Given the description of an element on the screen output the (x, y) to click on. 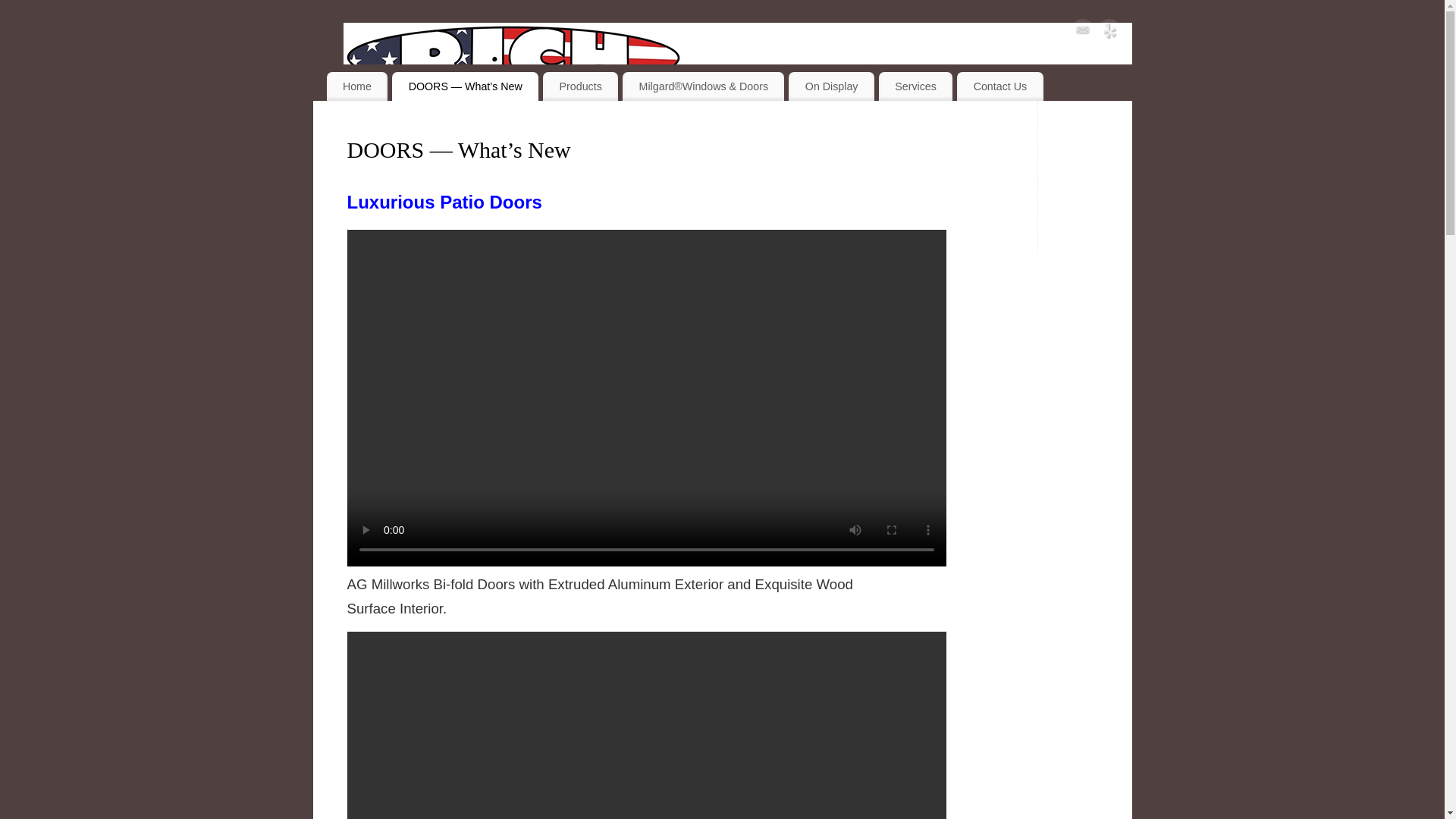
Home (356, 86)
Contact Us (999, 86)
On Display (831, 86)
Products (580, 86)
Services (915, 86)
